Given the description of an element on the screen output the (x, y) to click on. 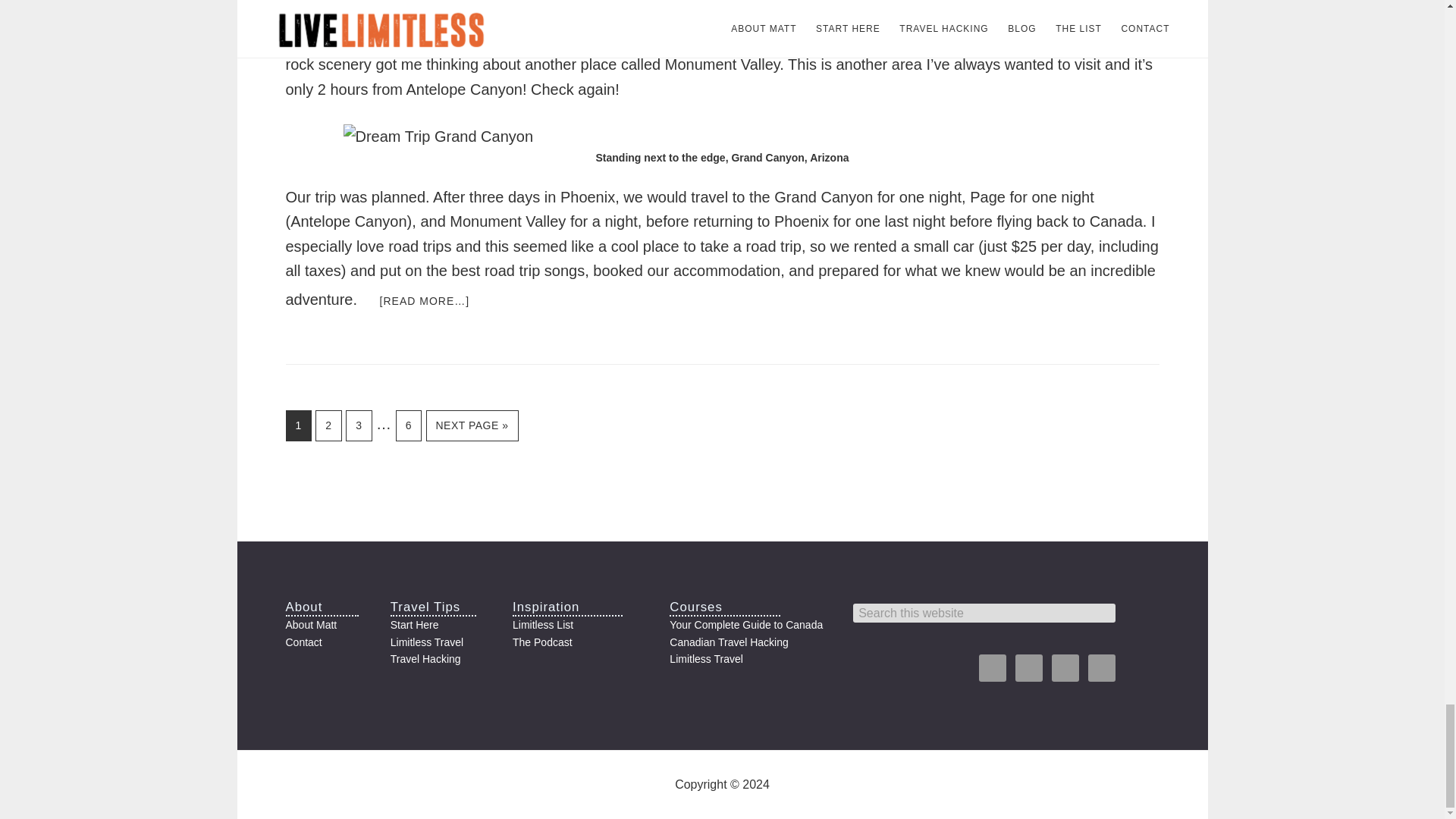
Search (1143, 613)
Search (1143, 613)
